Given the description of an element on the screen output the (x, y) to click on. 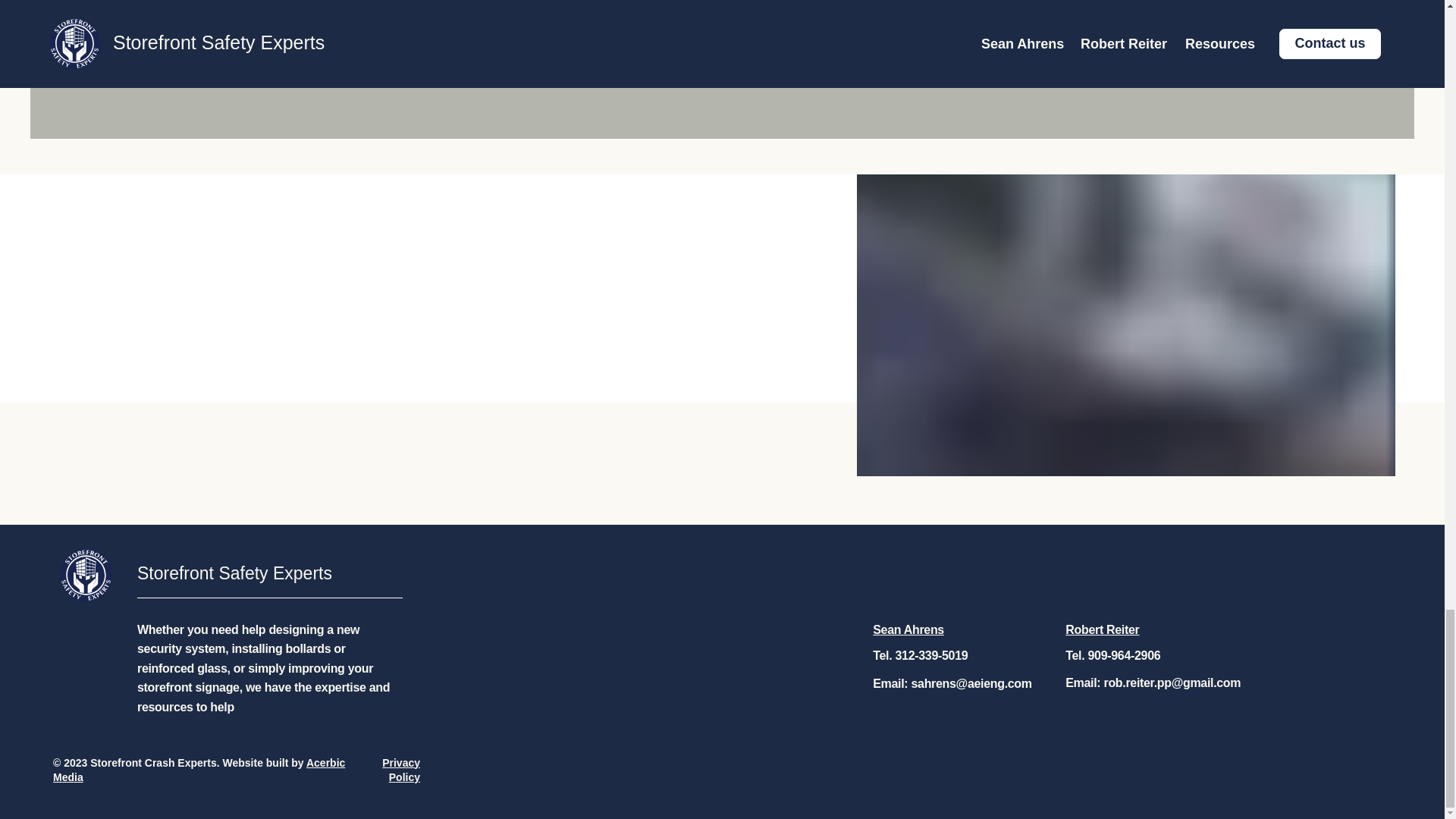
312-339-5019 (931, 655)
909-964-2906 (1123, 655)
Privacy Policy (400, 769)
Sean Ahrens (907, 629)
Acerbic Media (198, 769)
Storefront Safety Experts (233, 573)
Robert Reiter (1101, 629)
